Given the description of an element on the screen output the (x, y) to click on. 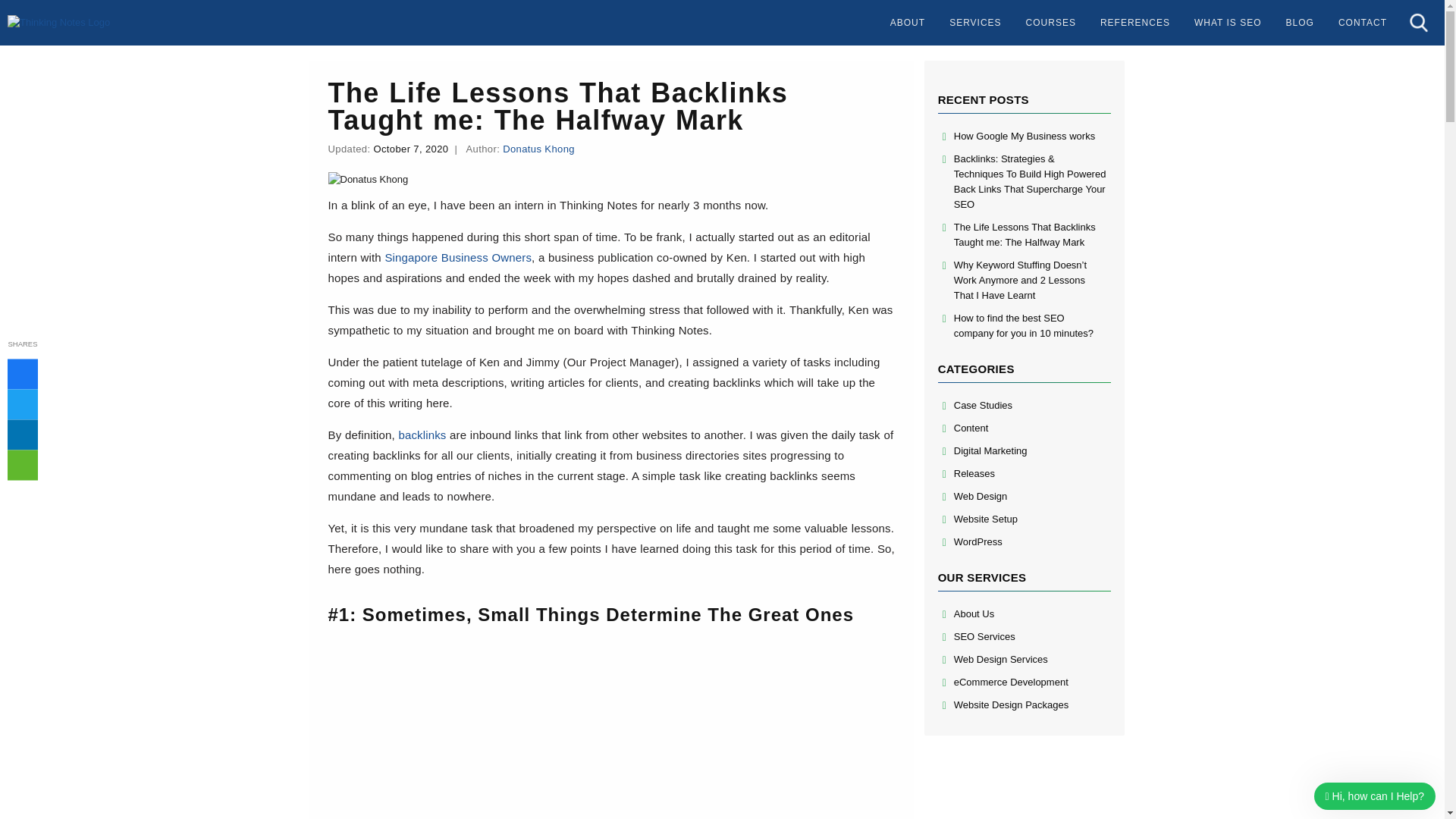
Friday, August 23, 2019, 6:06 pm (410, 148)
WHAT IS SEO (1227, 22)
COURSES (1050, 22)
REFERENCES (1135, 22)
CONTACT (1362, 22)
ABOUT (907, 22)
BLOG (1300, 22)
SERVICES (975, 22)
Posts by Donatus Khong (538, 148)
